Given the description of an element on the screen output the (x, y) to click on. 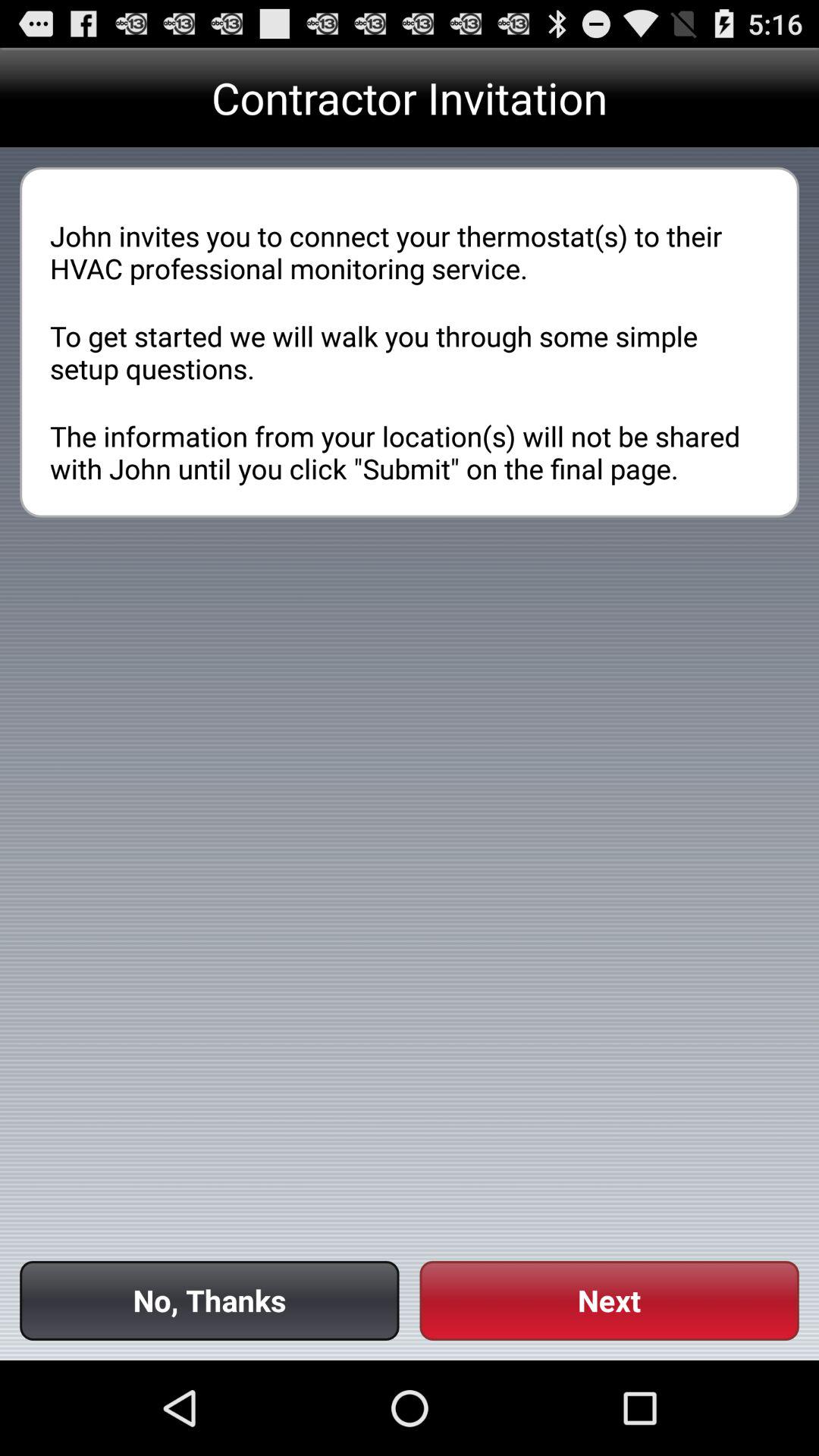
choose button to the right of the no, thanks icon (609, 1300)
